Given the description of an element on the screen output the (x, y) to click on. 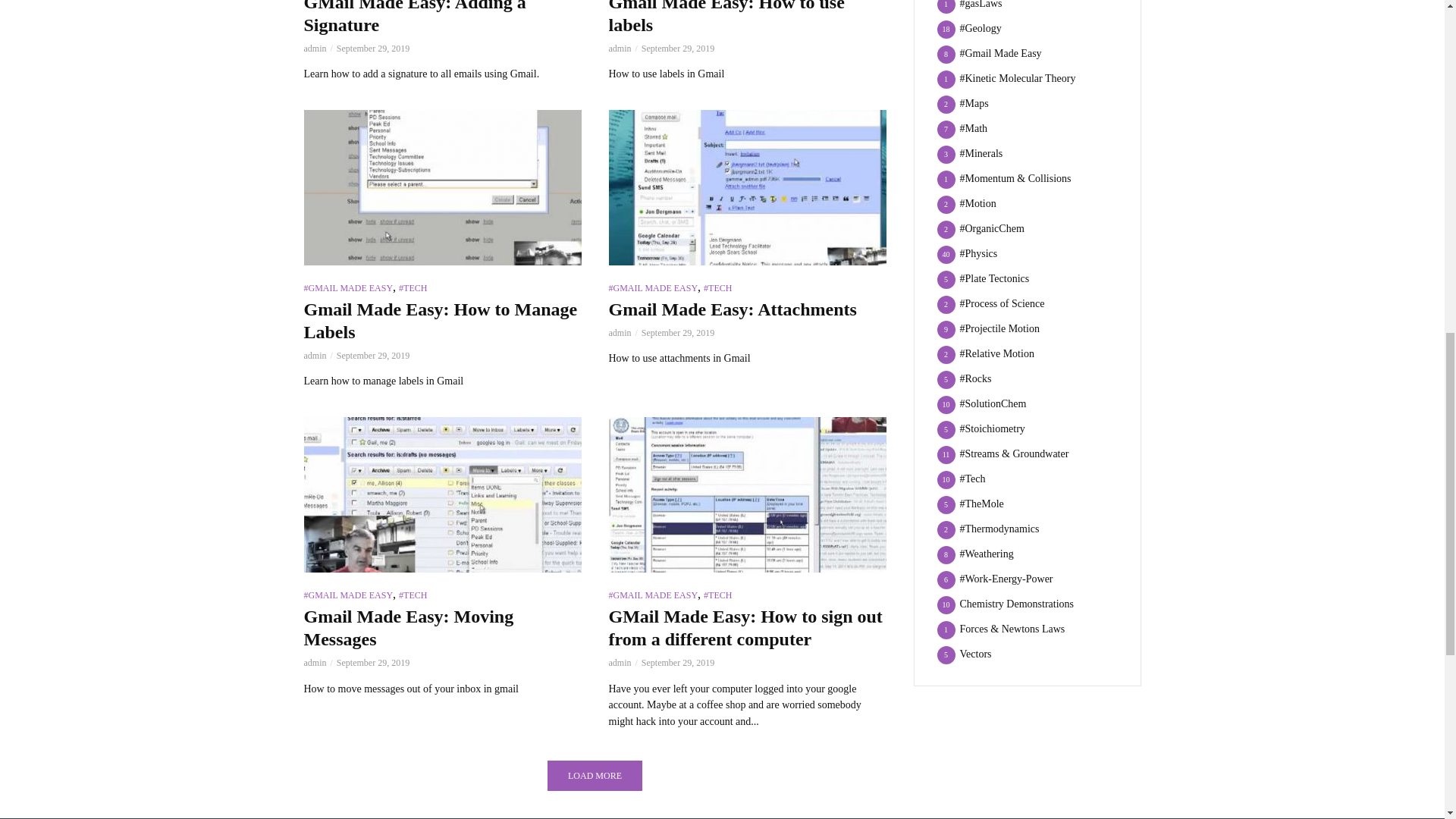
Gmail Made Easy:  How to Manage Labels (441, 187)
Gmail Made Easy:  Attachments (746, 187)
GMail Made Easy: How to sign out from a different computer (746, 494)
Gmail Made Easy: Moving Messages (441, 494)
